Given the description of an element on the screen output the (x, y) to click on. 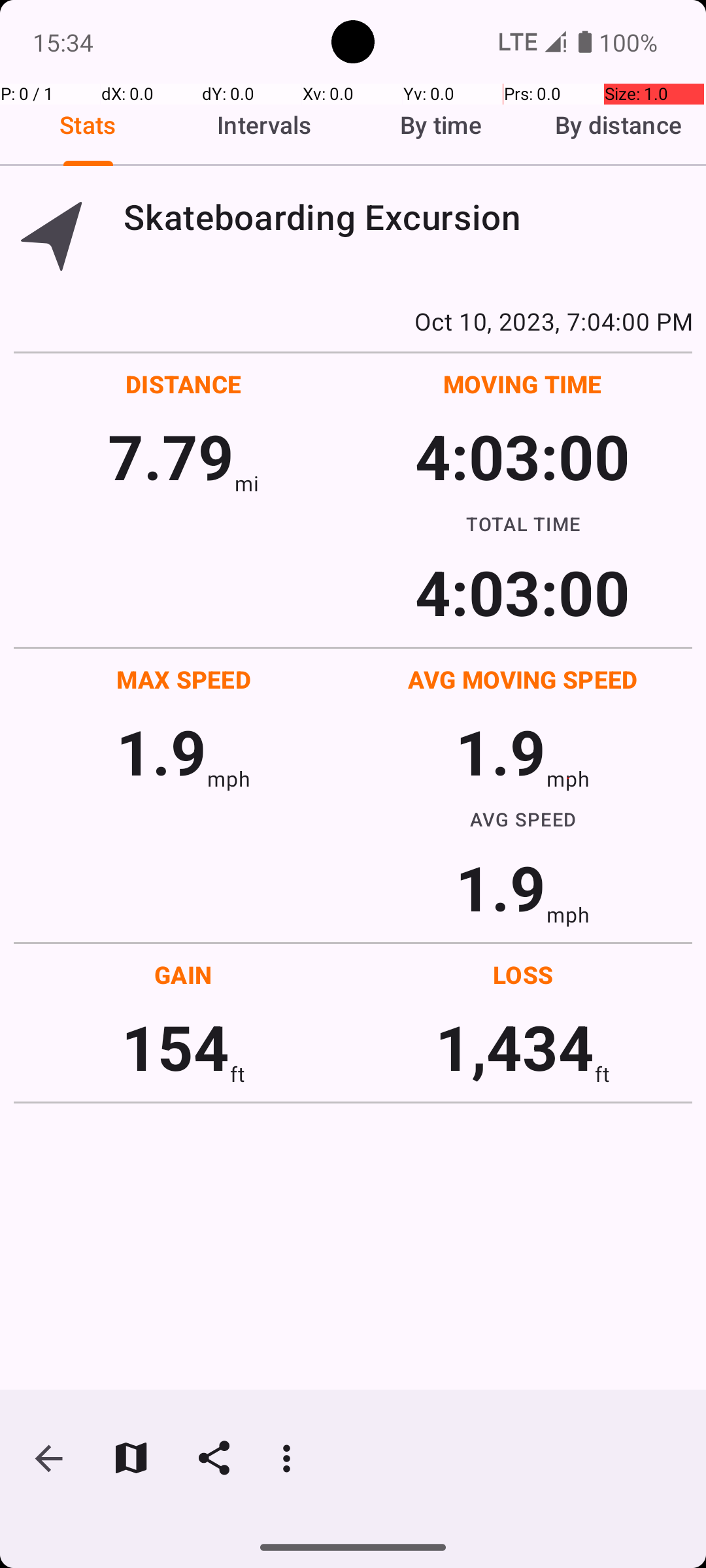
Skateboarding Excursion Element type: android.widget.TextView (407, 216)
Oct 10, 2023, 7:04:00 PM Element type: android.widget.TextView (352, 320)
7.79 Element type: android.widget.TextView (170, 455)
4:03:00 Element type: android.widget.TextView (522, 455)
1.9 Element type: android.widget.TextView (161, 750)
154 Element type: android.widget.TextView (175, 1045)
1,434 Element type: android.widget.TextView (514, 1045)
